Given the description of an element on the screen output the (x, y) to click on. 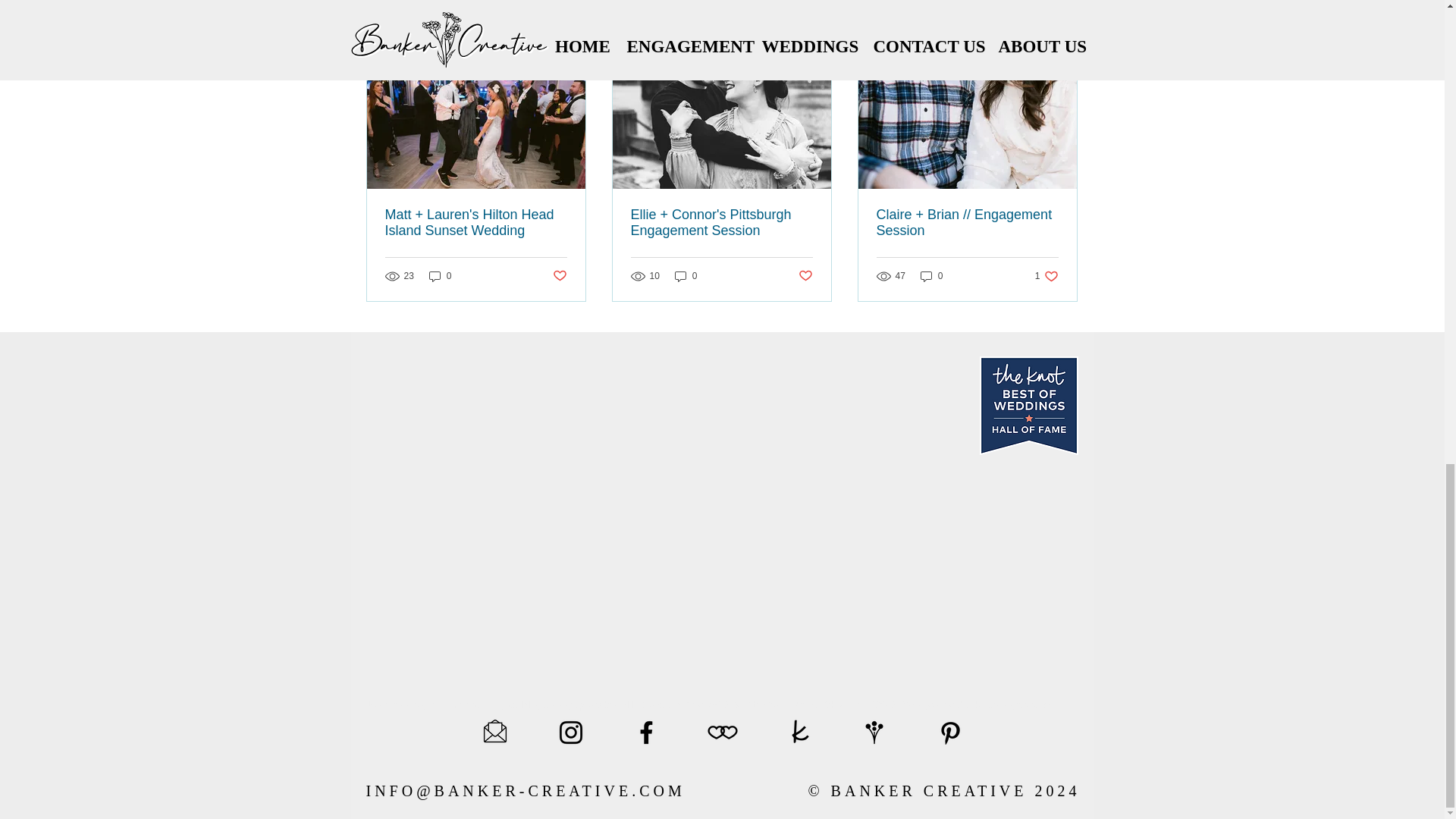
0 (440, 275)
See All (1061, 38)
0 (685, 275)
Post not marked as liked (804, 276)
Post not marked as liked (558, 276)
